Given the description of an element on the screen output the (x, y) to click on. 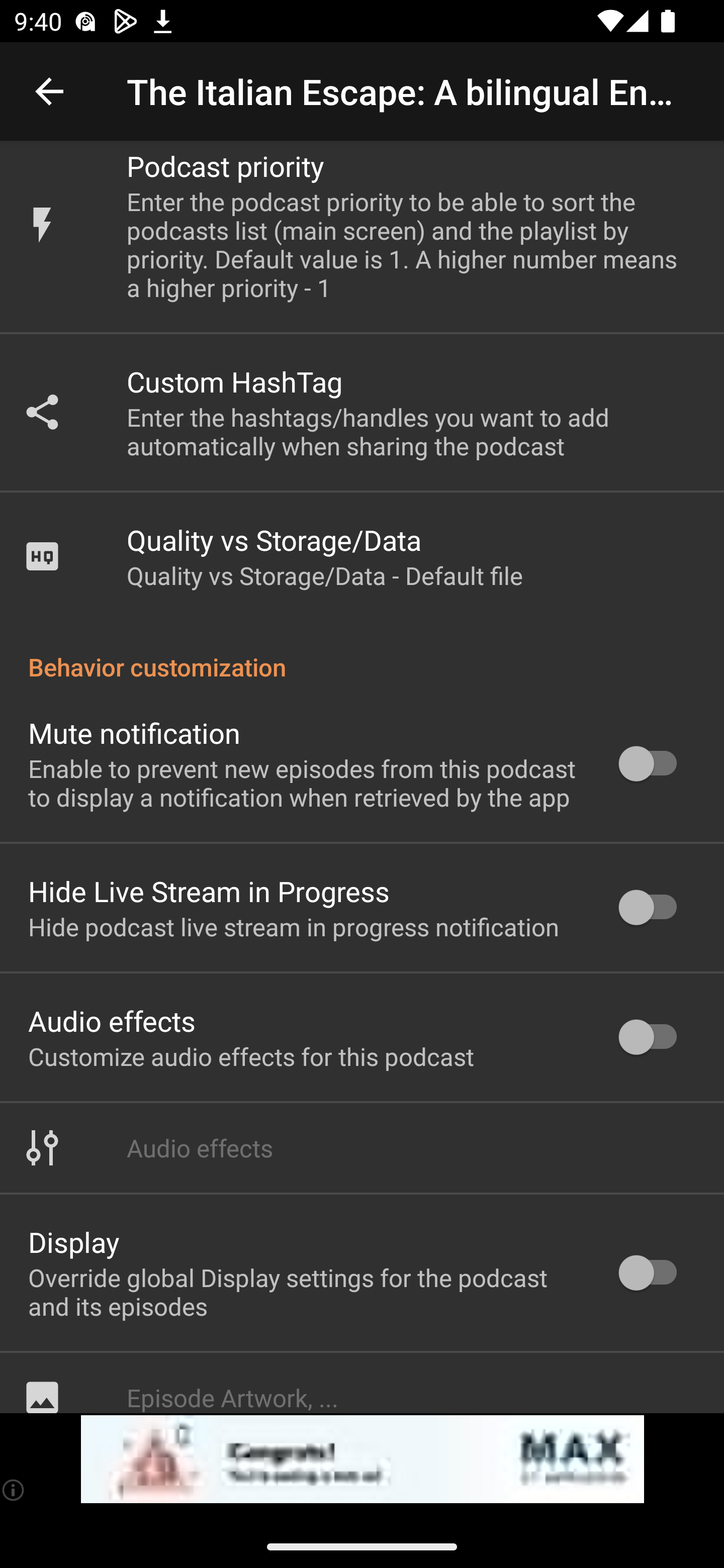
Navigate up (49, 91)
Audio effects (362, 1148)
app-monetization (362, 1459)
(i) (14, 1489)
